Given the description of an element on the screen output the (x, y) to click on. 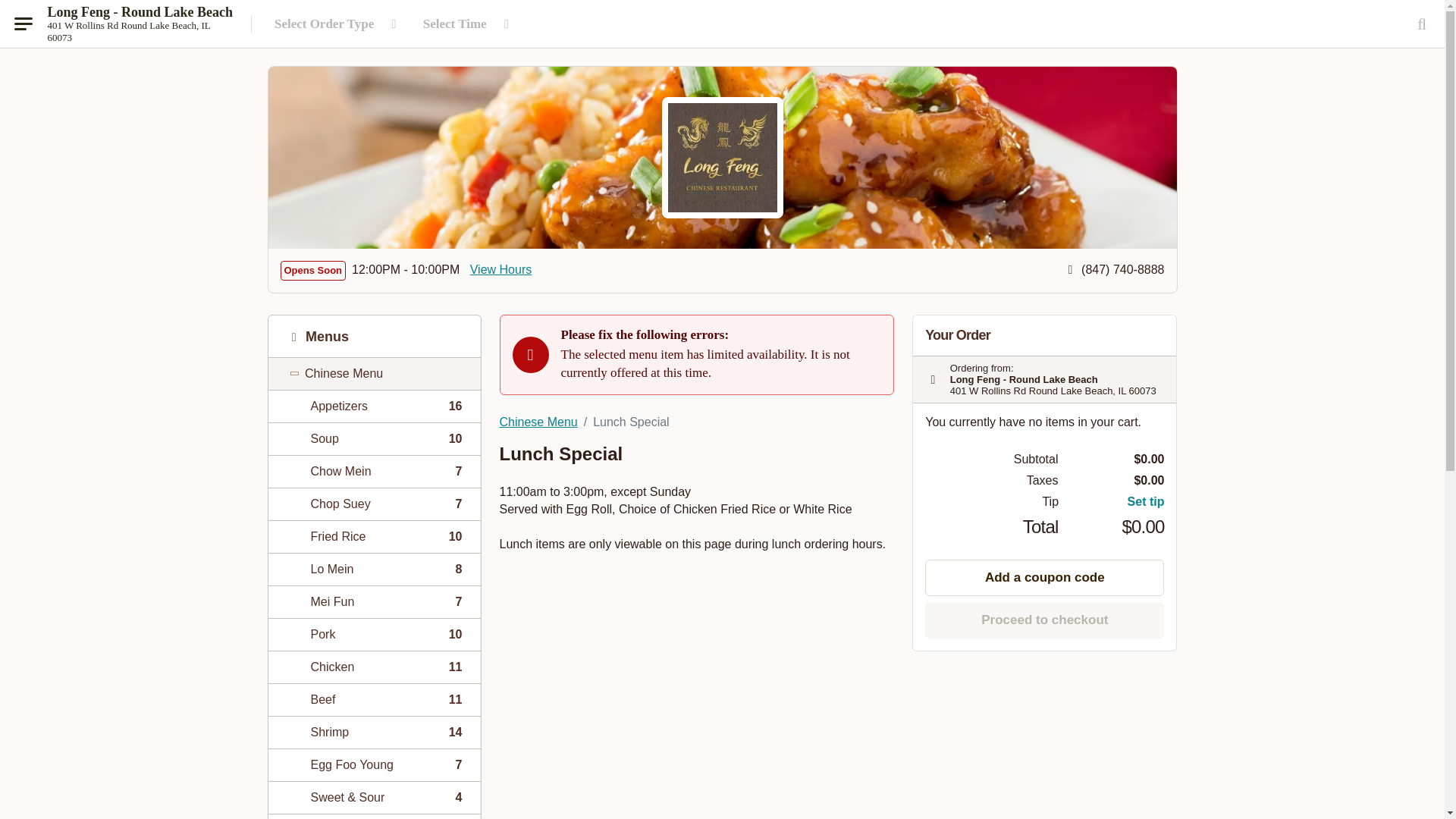
Menu (373, 634)
Long Feng - Round Lake Beach (373, 731)
View Hours (373, 405)
Select Order Type (373, 568)
Proceed to checkout (139, 11)
